Given the description of an element on the screen output the (x, y) to click on. 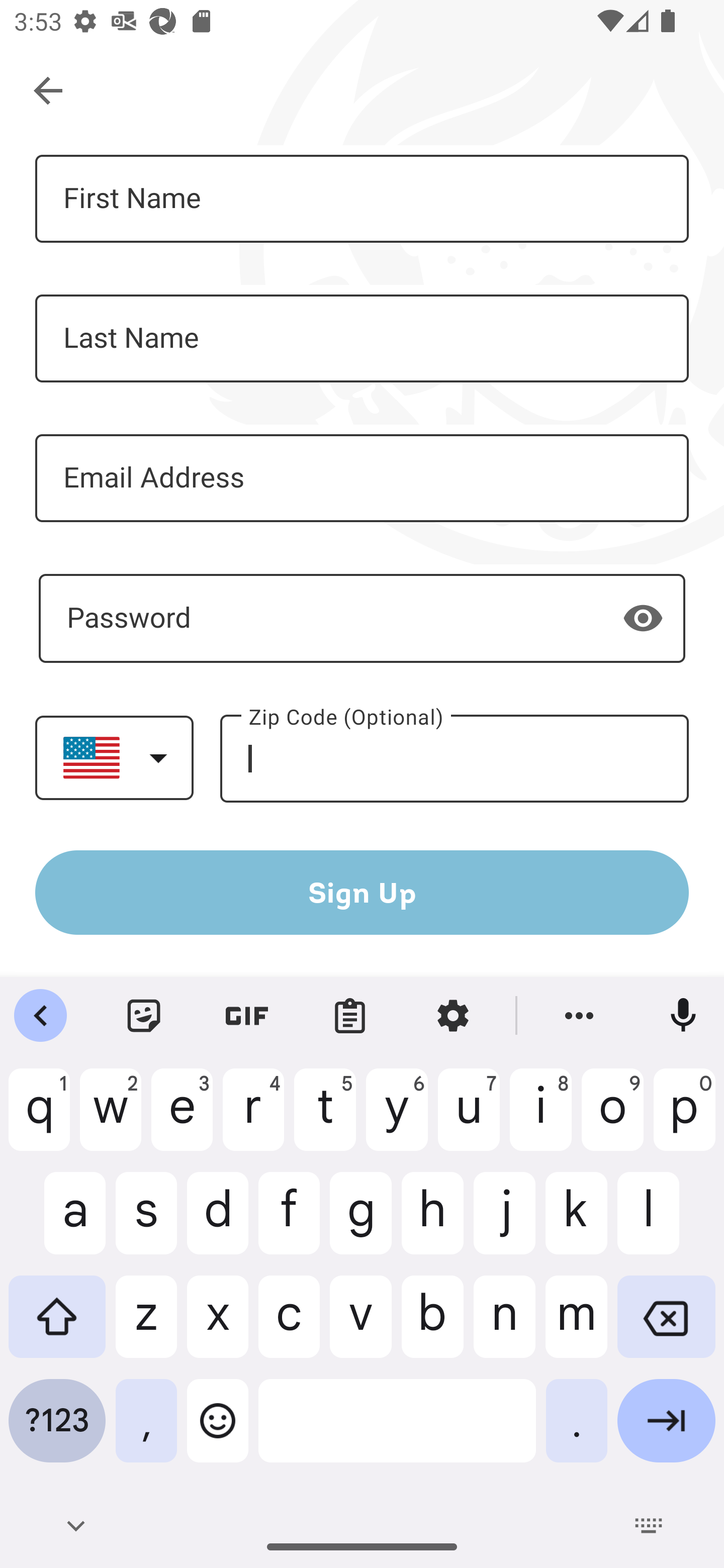
Navigate up (49, 91)
First Name - Required (361, 199)
Last Name - Required (361, 338)
Email Address - Required (361, 478)
- Required (361, 618)
Show password (642, 617)
Zip Code – Optional (454, 758)
Select a country. United States selected. (114, 757)
Sign Up (361, 891)
